Given the description of an element on the screen output the (x, y) to click on. 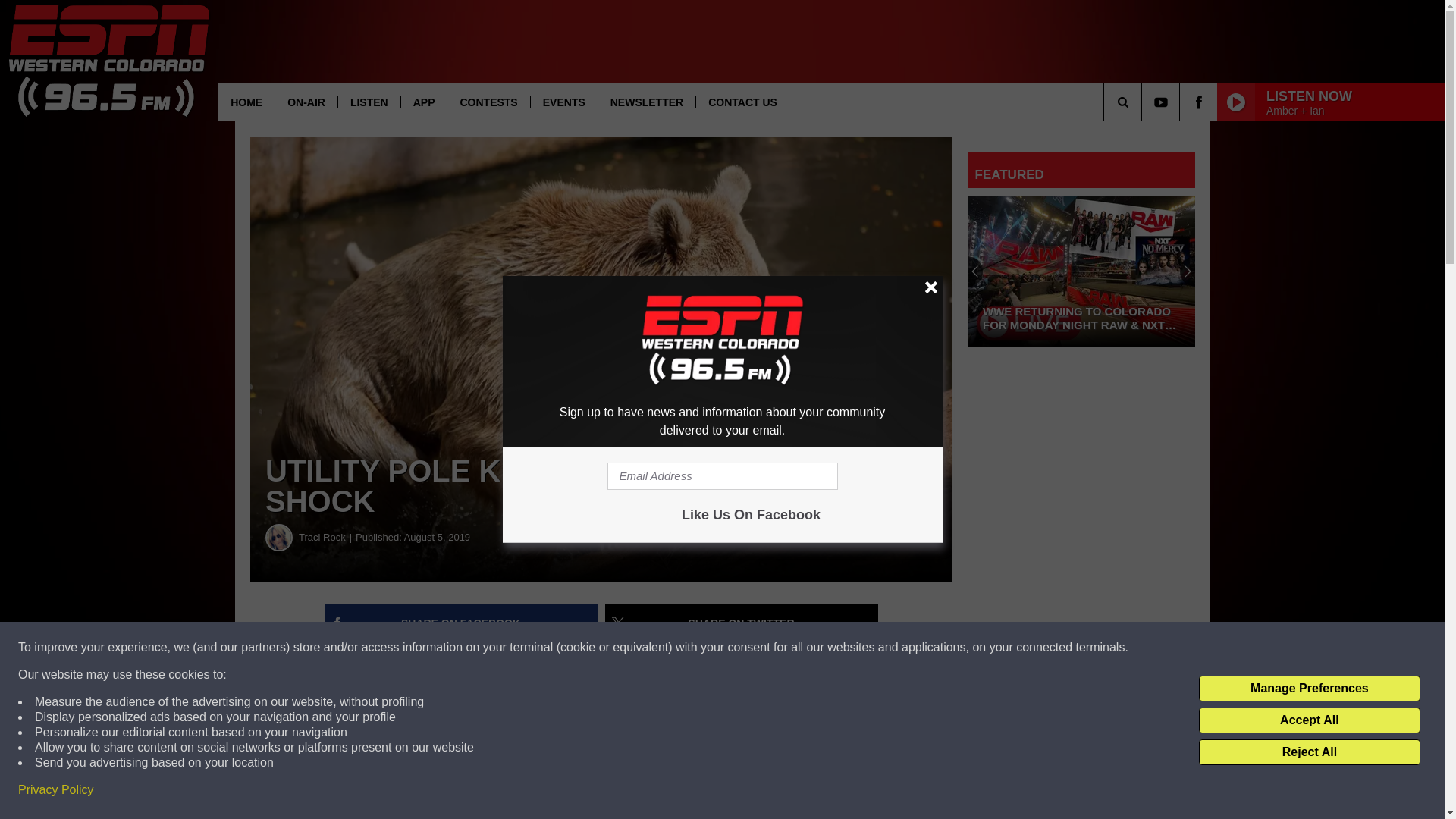
CONTESTS (487, 102)
APP (423, 102)
LISTEN (368, 102)
Manage Preferences (1309, 688)
SEARCH (1144, 102)
Share on Twitter (741, 623)
Share on Facebook (460, 623)
EVENTS (562, 102)
Privacy Policy (55, 789)
HOME (246, 102)
Email Address (722, 475)
Accept All (1309, 720)
SEARCH (1144, 102)
NEWSLETTER (645, 102)
ON-AIR (306, 102)
